Given the description of an element on the screen output the (x, y) to click on. 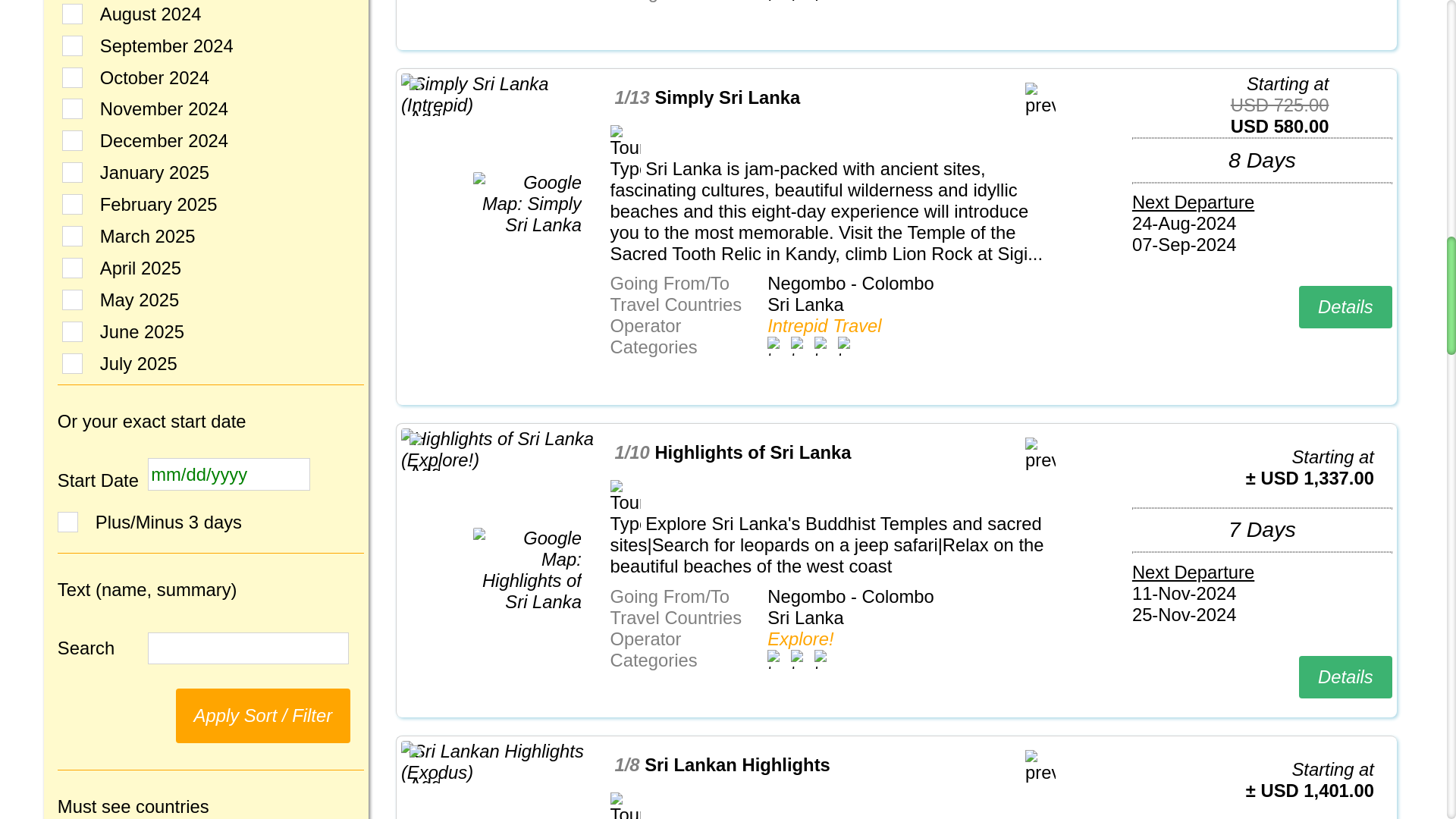
Details (1344, 306)
Intrepid Travel (823, 325)
Details (1344, 677)
Explore! (799, 638)
